Given the description of an element on the screen output the (x, y) to click on. 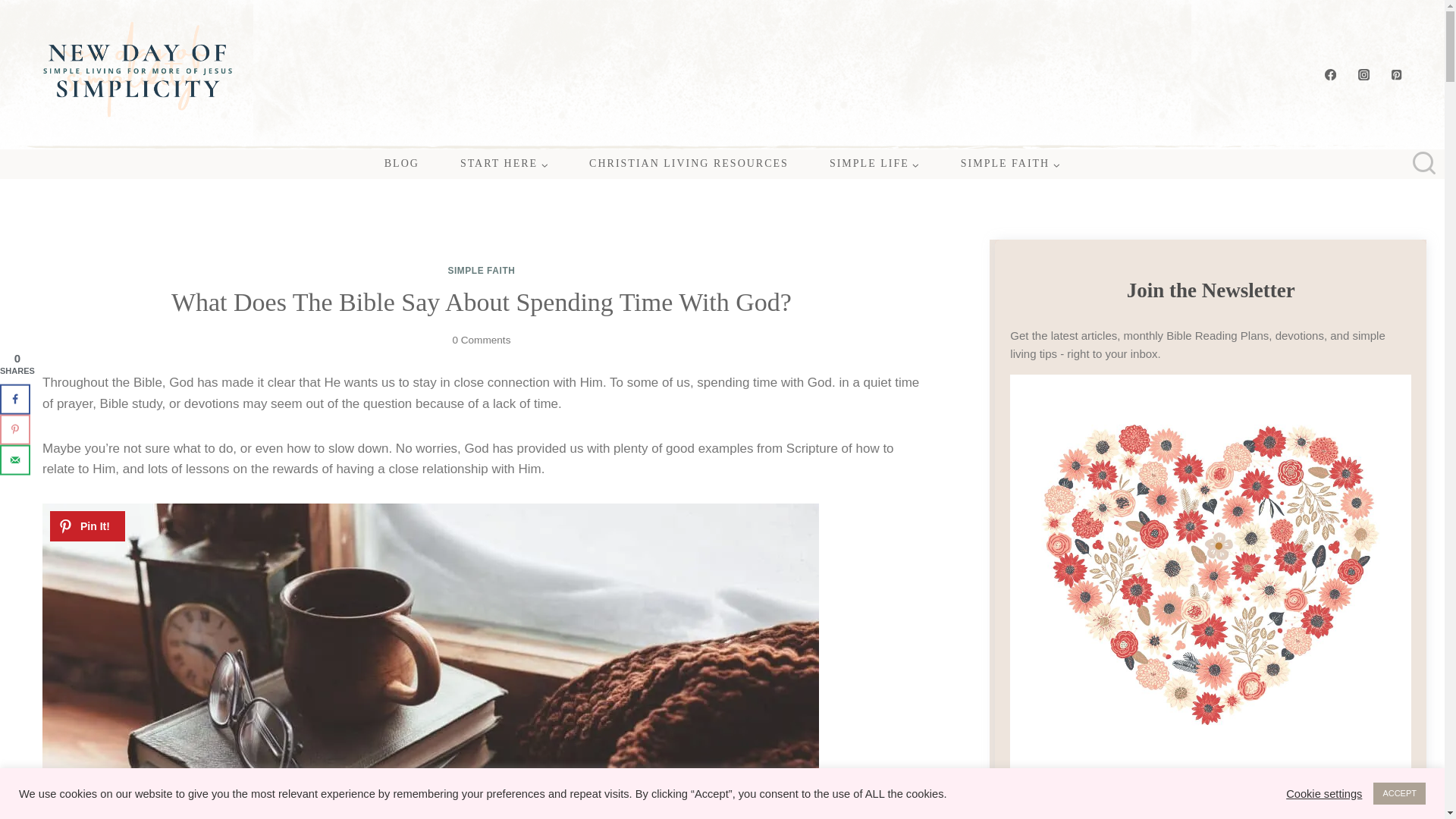
SIMPLE LIFE (874, 164)
0 Comments (481, 340)
START HERE (504, 164)
Share on Facebook (15, 399)
BLOG (401, 164)
Save to Pinterest (15, 429)
CHRISTIAN LIVING RESOURCES (689, 164)
Send over email (15, 459)
SIMPLE FAITH (1010, 164)
SIMPLE FAITH (480, 270)
